Given the description of an element on the screen output the (x, y) to click on. 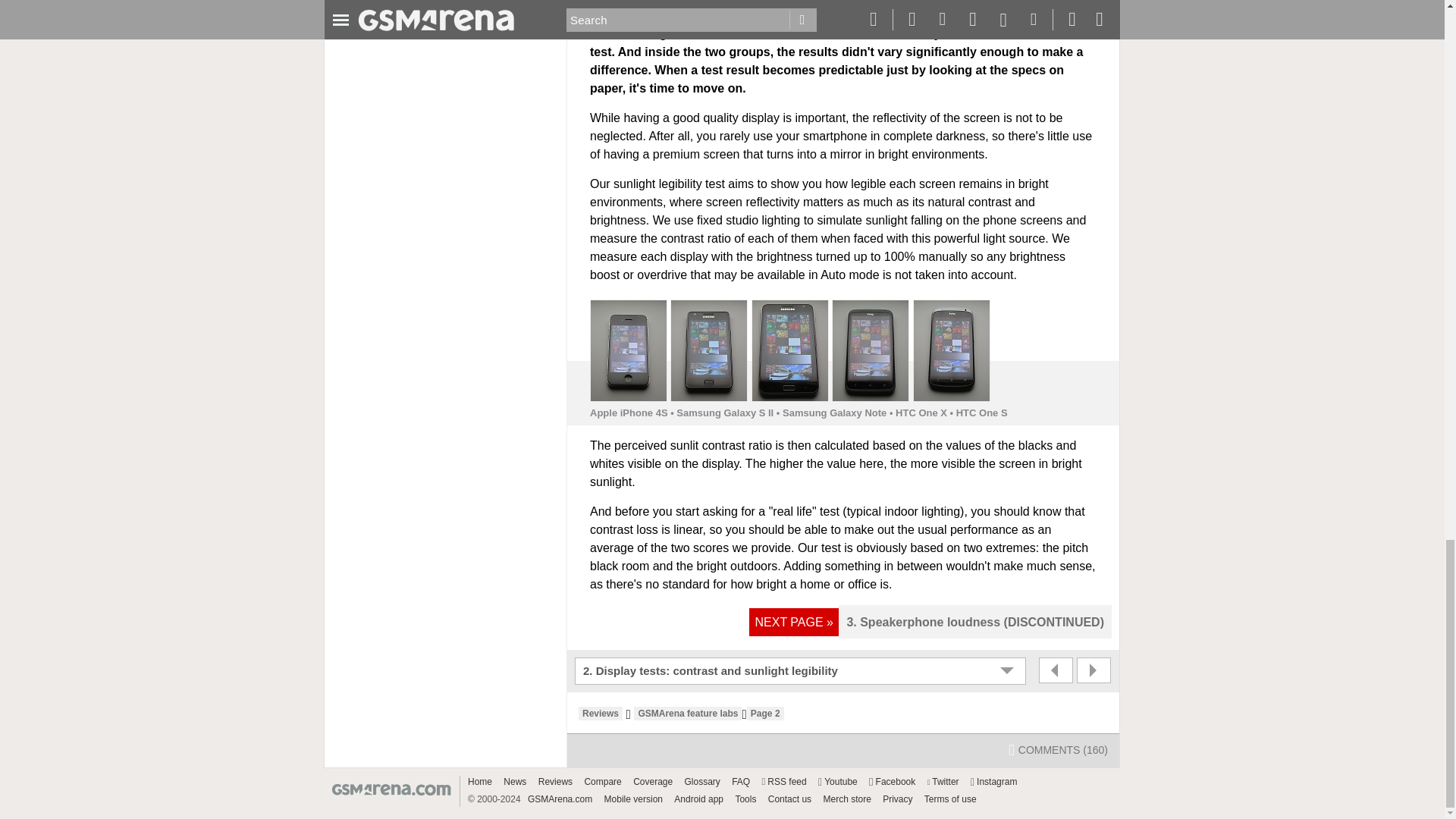
Next page (1093, 670)
2. Display tests: contrast and sunlight legibility (802, 670)
Previous page (1056, 670)
